Given the description of an element on the screen output the (x, y) to click on. 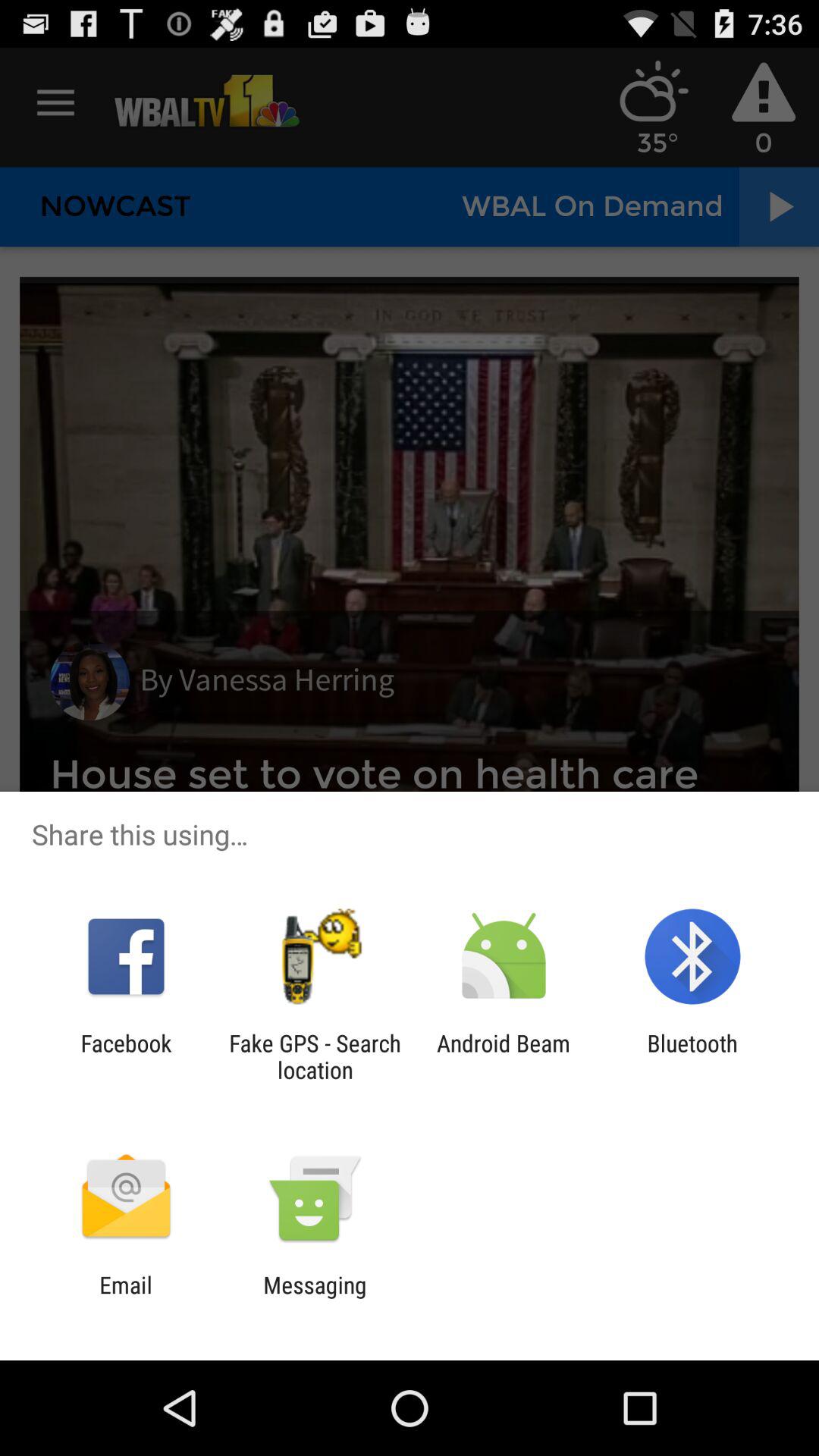
click the app to the left of the android beam icon (314, 1056)
